Given the description of an element on the screen output the (x, y) to click on. 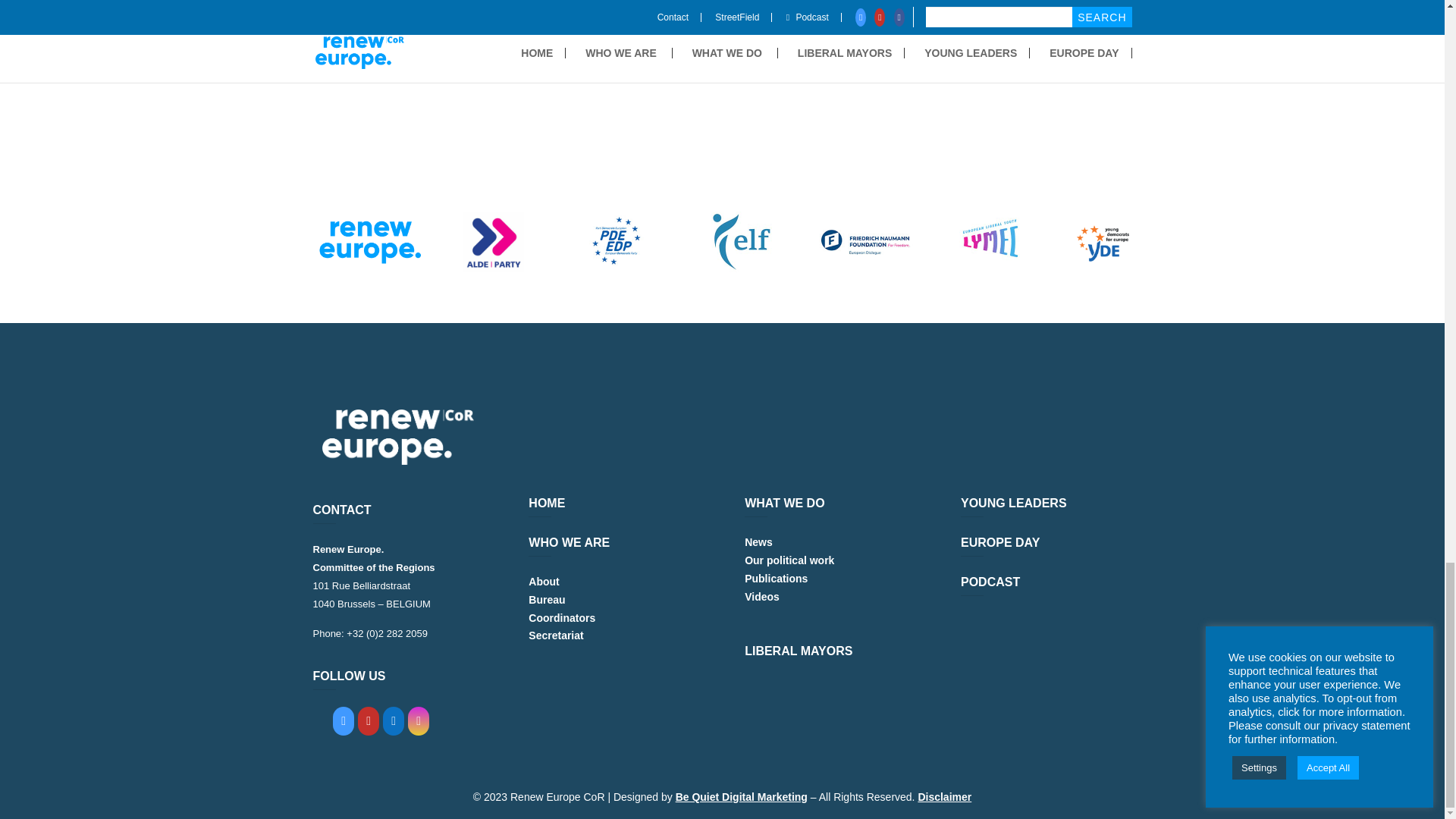
DCb4L7YXoAA1QzH (368, 731)
elf-logo (740, 241)
DCb4L7YXoAA1QzH (418, 731)
DCb4L7YXoAA1QzH (343, 731)
renew-europe-cor-logo-2023 (397, 437)
DCb4L7YXoAA1QzH (393, 731)
